Given the description of an element on the screen output the (x, y) to click on. 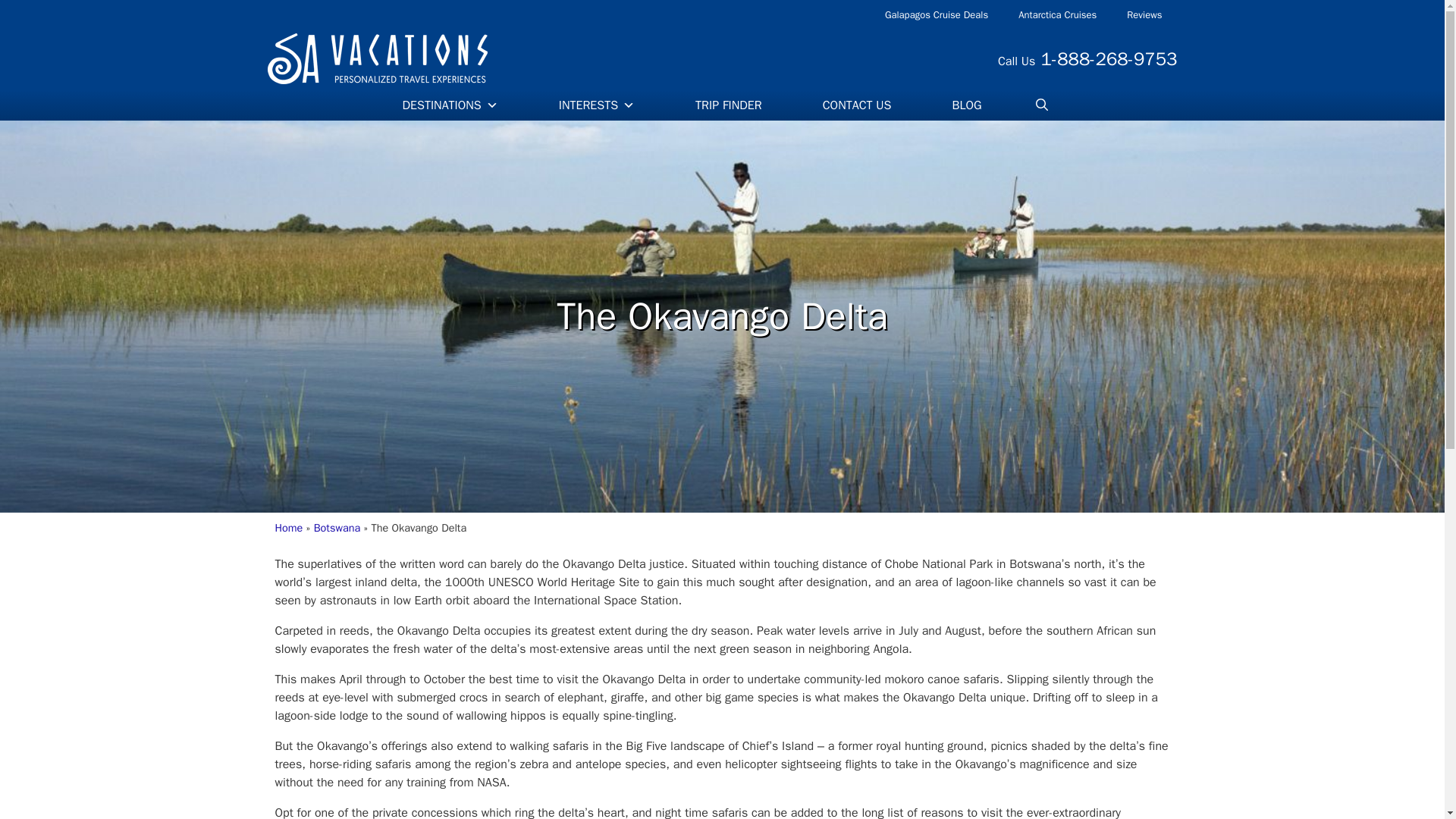
Antarctica Cruises (1057, 15)
Galapagos Cruise Deals (936, 15)
Reviews (1144, 15)
Antarctica Cruises (1057, 15)
Reviews (1144, 15)
1-888-268-9753 (1109, 57)
Galapagos Cruise Deals (936, 15)
